Given the description of an element on the screen output the (x, y) to click on. 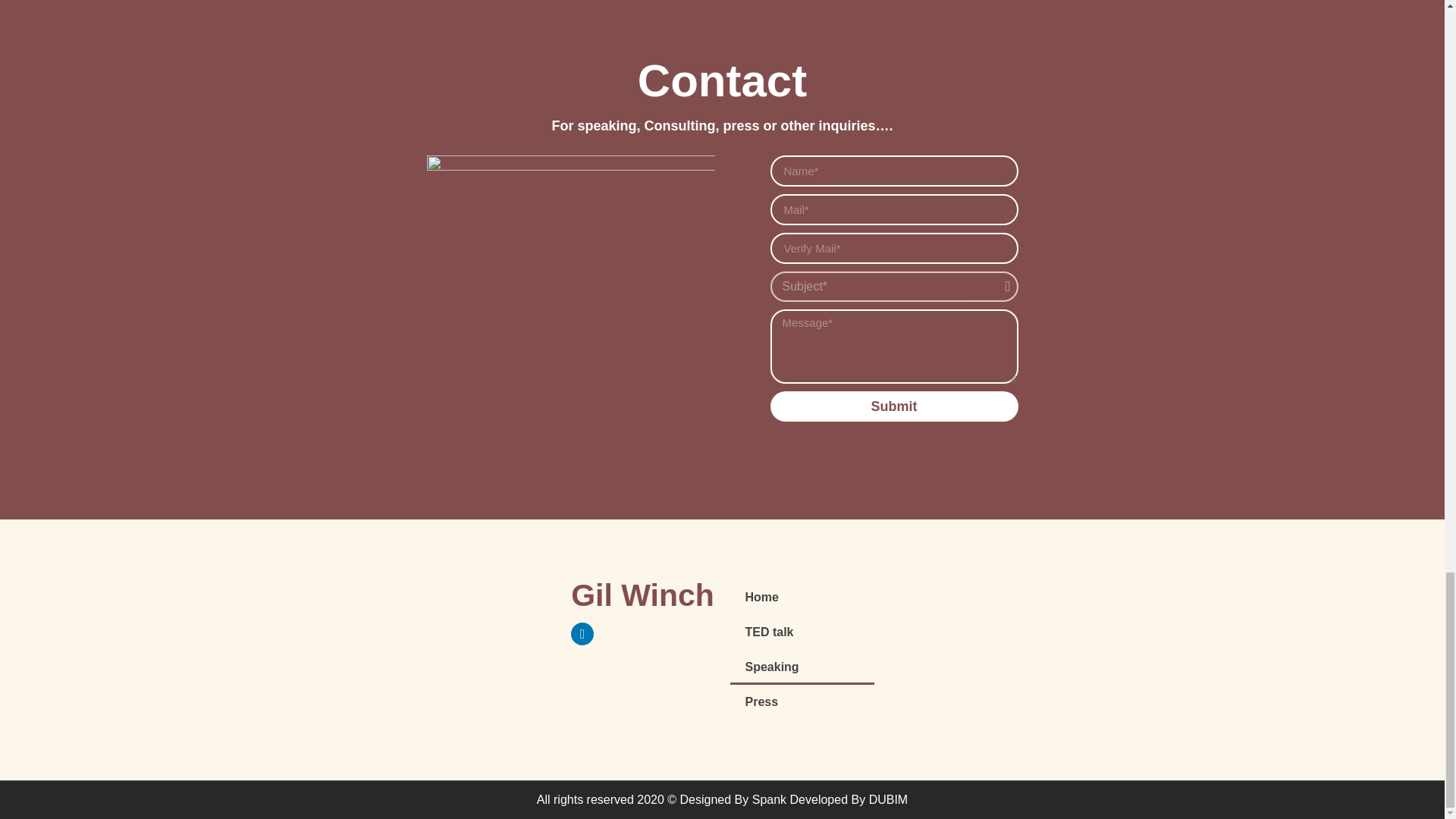
Spank (769, 799)
TED talk (801, 632)
Home (801, 597)
Submit (893, 406)
DUBIM (888, 799)
Press (801, 701)
Speaking (801, 667)
